Given the description of an element on the screen output the (x, y) to click on. 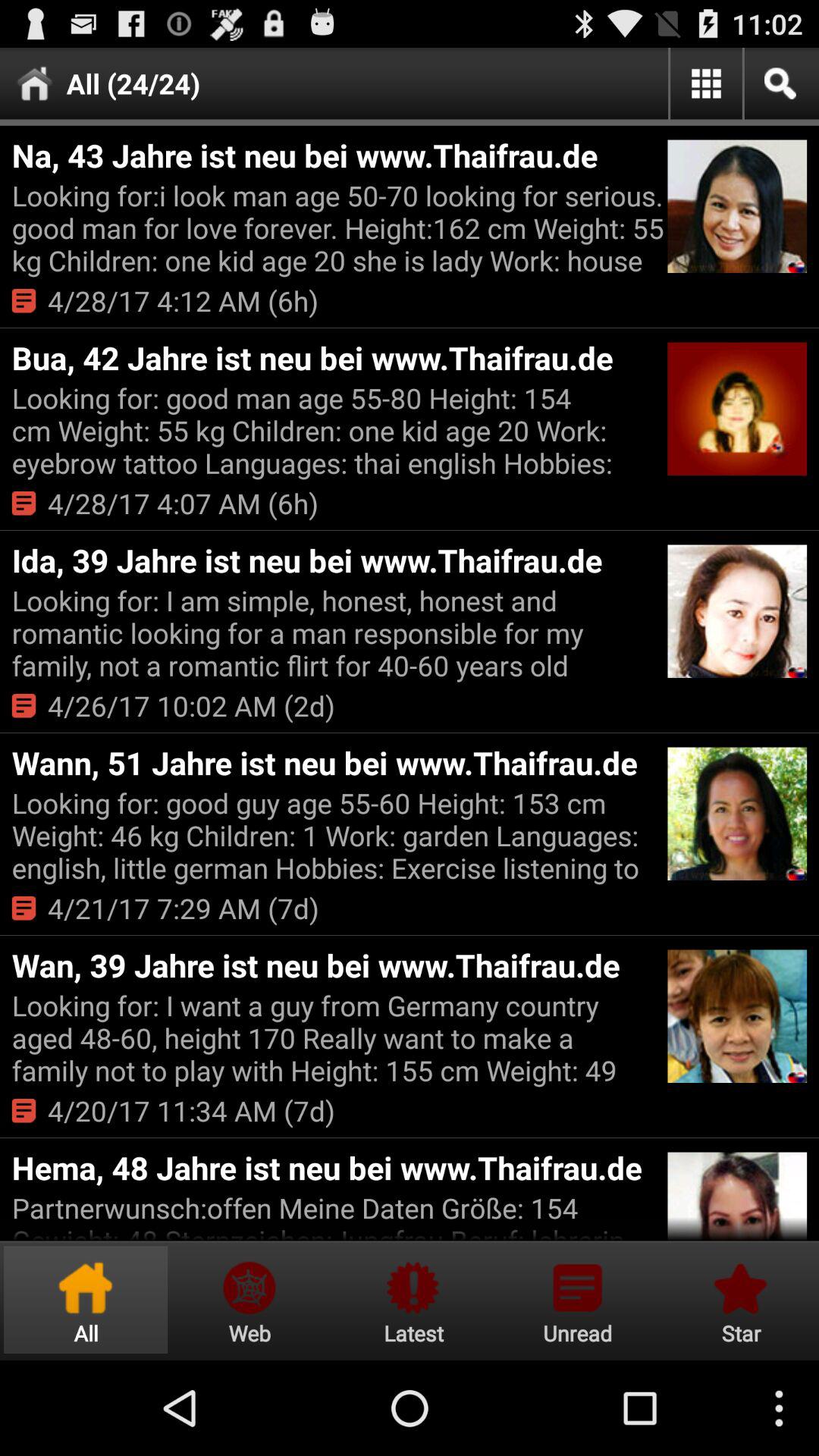
launch the hema 48 jahre (337, 1167)
